Given the description of an element on the screen output the (x, y) to click on. 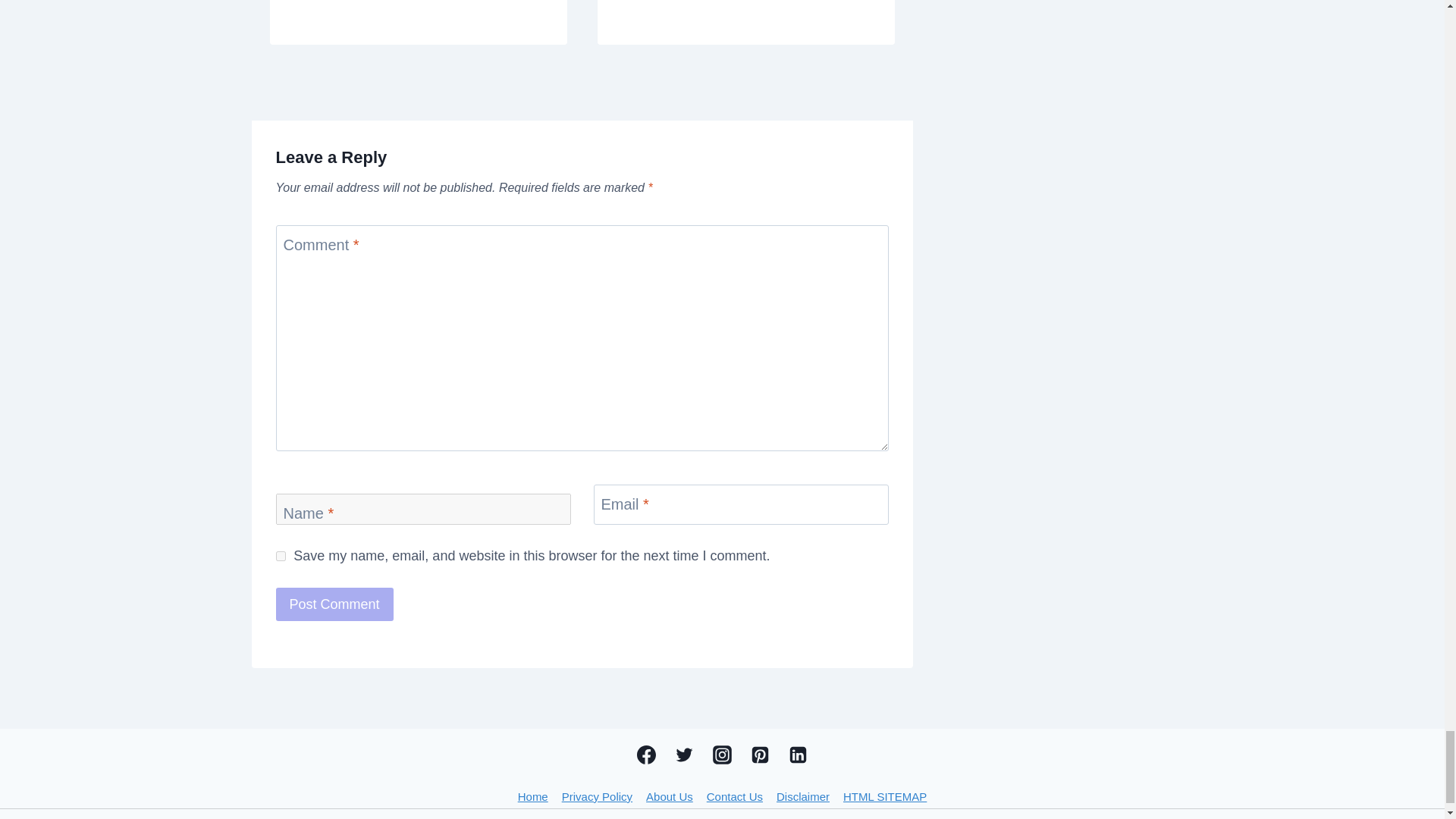
Post Comment (334, 603)
yes (280, 556)
